Given the description of an element on the screen output the (x, y) to click on. 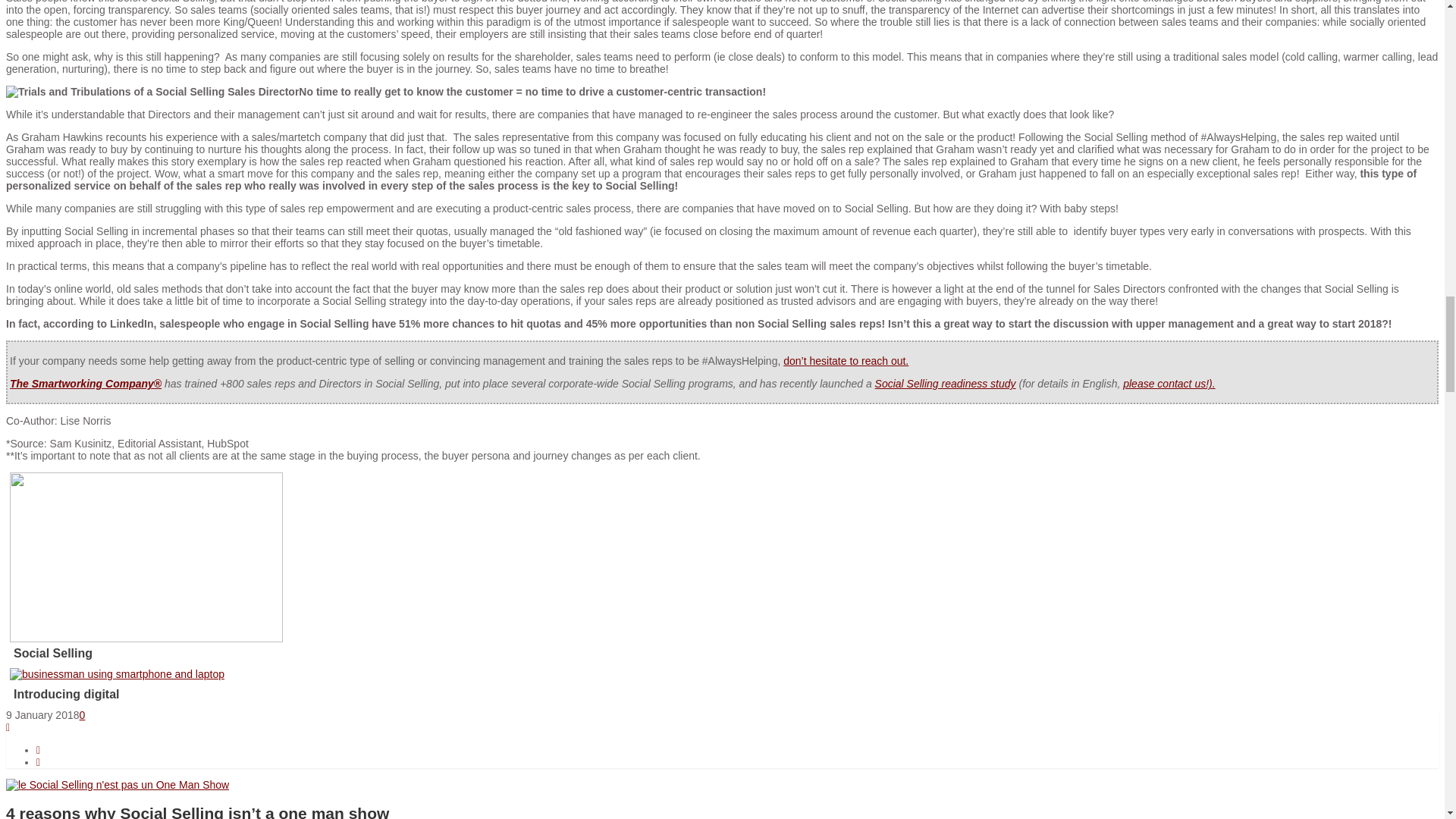
Social Selling (331, 653)
Social Selling (146, 638)
Introducing digital (331, 694)
Introducing digital (117, 674)
